Given the description of an element on the screen output the (x, y) to click on. 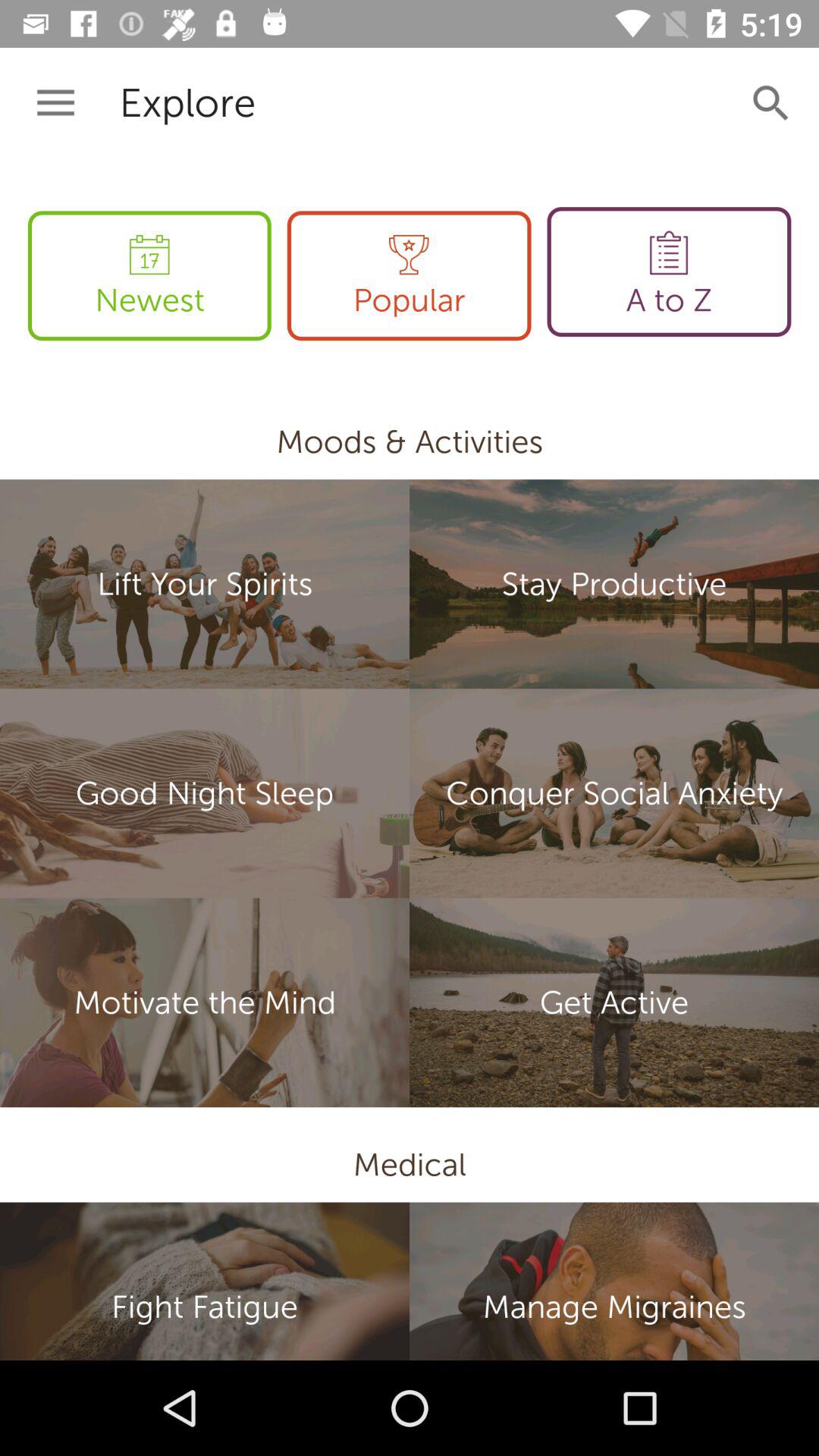
turn on the icon to the right of the newest (409, 275)
